Given the description of an element on the screen output the (x, y) to click on. 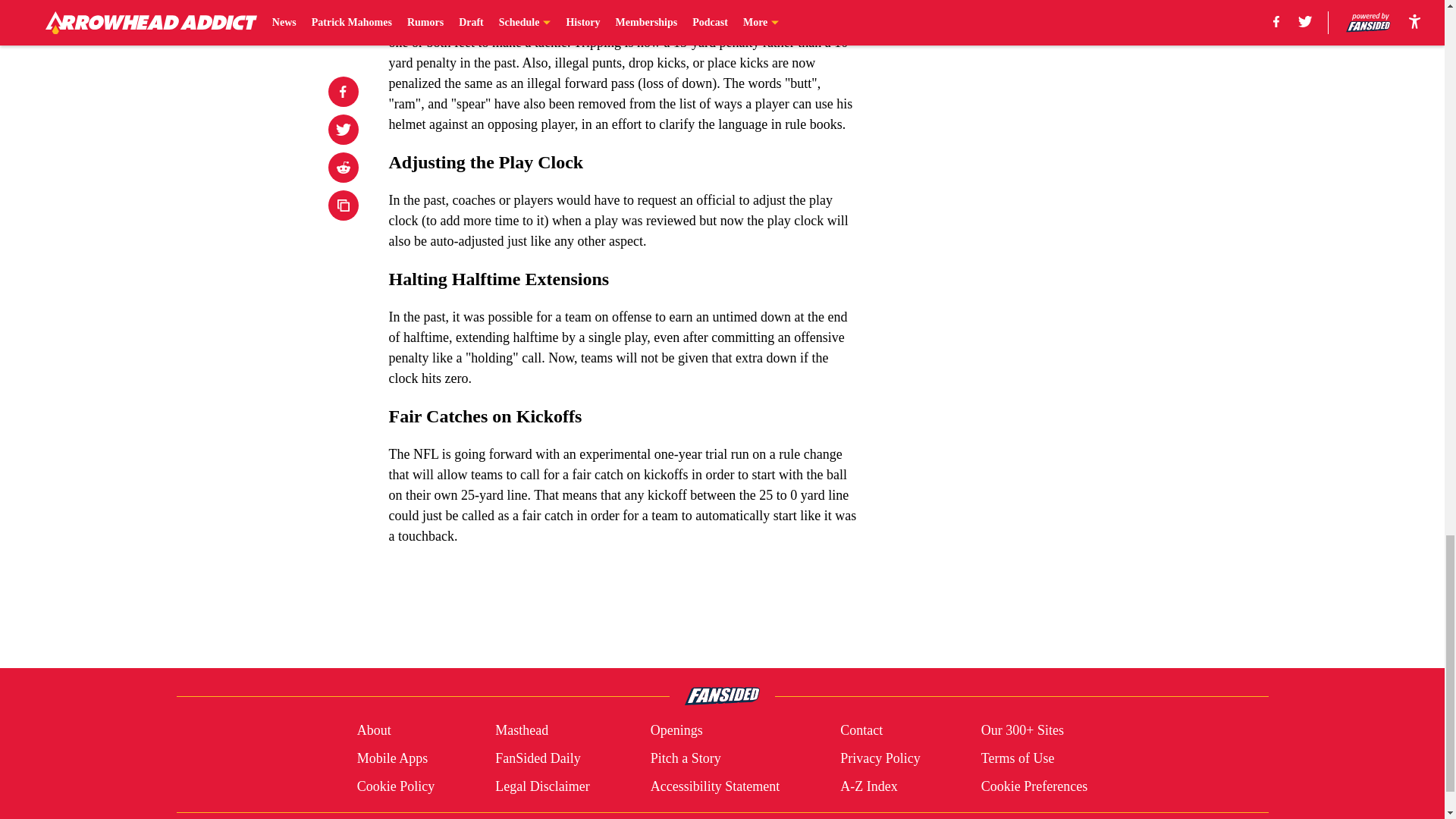
FanSided Daily (537, 758)
Pitch a Story (685, 758)
Terms of Use (1017, 758)
Privacy Policy (880, 758)
Mobile Apps (392, 758)
Masthead (521, 730)
Openings (676, 730)
About (373, 730)
Contact (861, 730)
